Given the description of an element on the screen output the (x, y) to click on. 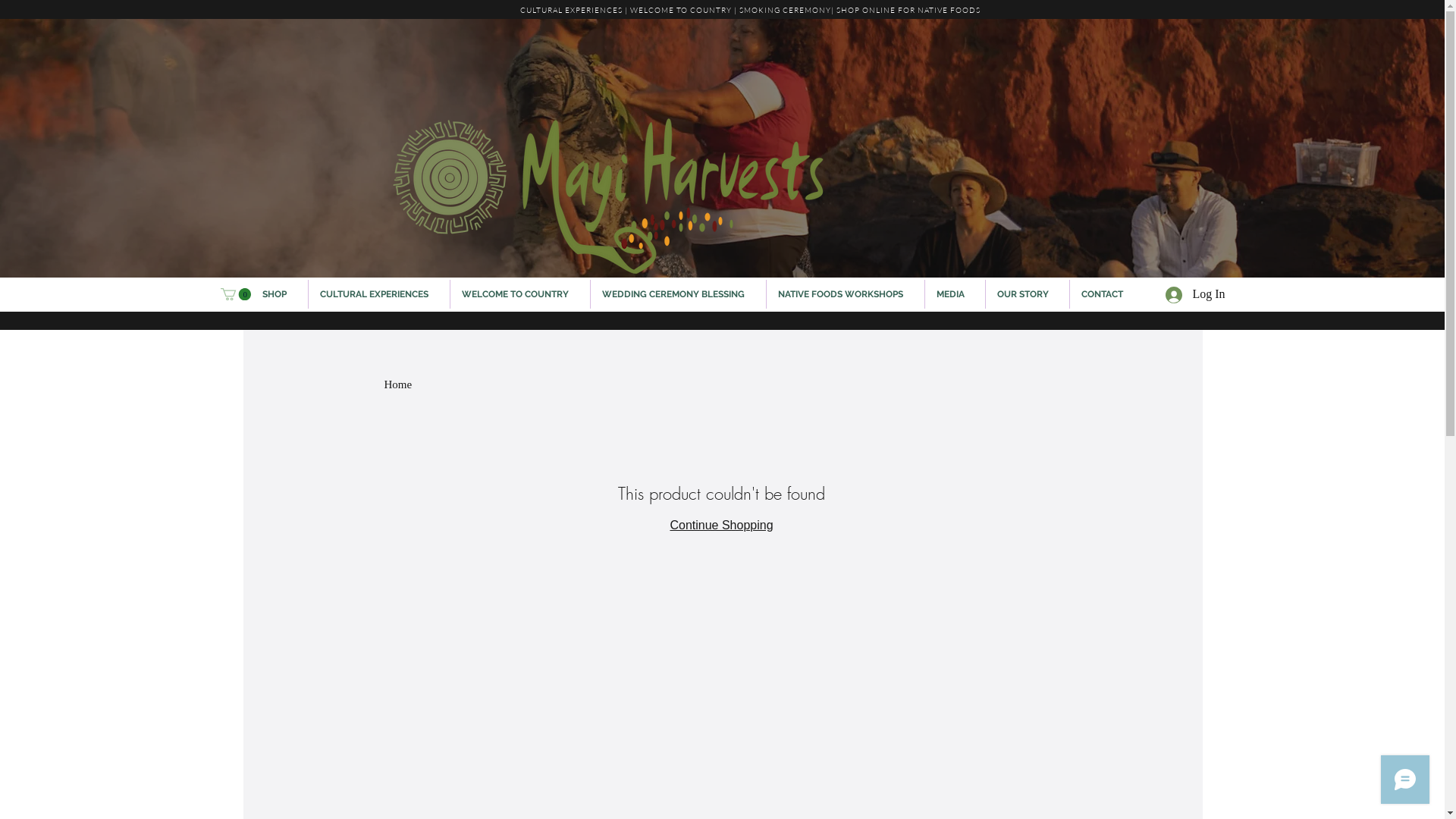
WELCOME TO COUNTRY Element type: text (519, 293)
0 Element type: text (234, 294)
SHOP Element type: text (278, 293)
Log In Element type: text (1160, 294)
WEDDING CEREMONY BLESSING Element type: text (677, 293)
Continue Shopping Element type: text (720, 524)
Home Element type: text (397, 384)
CONTACT Element type: text (1105, 293)
CULTURAL EXPERIENCES Element type: text (377, 293)
OUR STORY Element type: text (1027, 293)
NATIVE FOODS WORKSHOPS Element type: text (844, 293)
MEDIA Element type: text (955, 293)
